Given the description of an element on the screen output the (x, y) to click on. 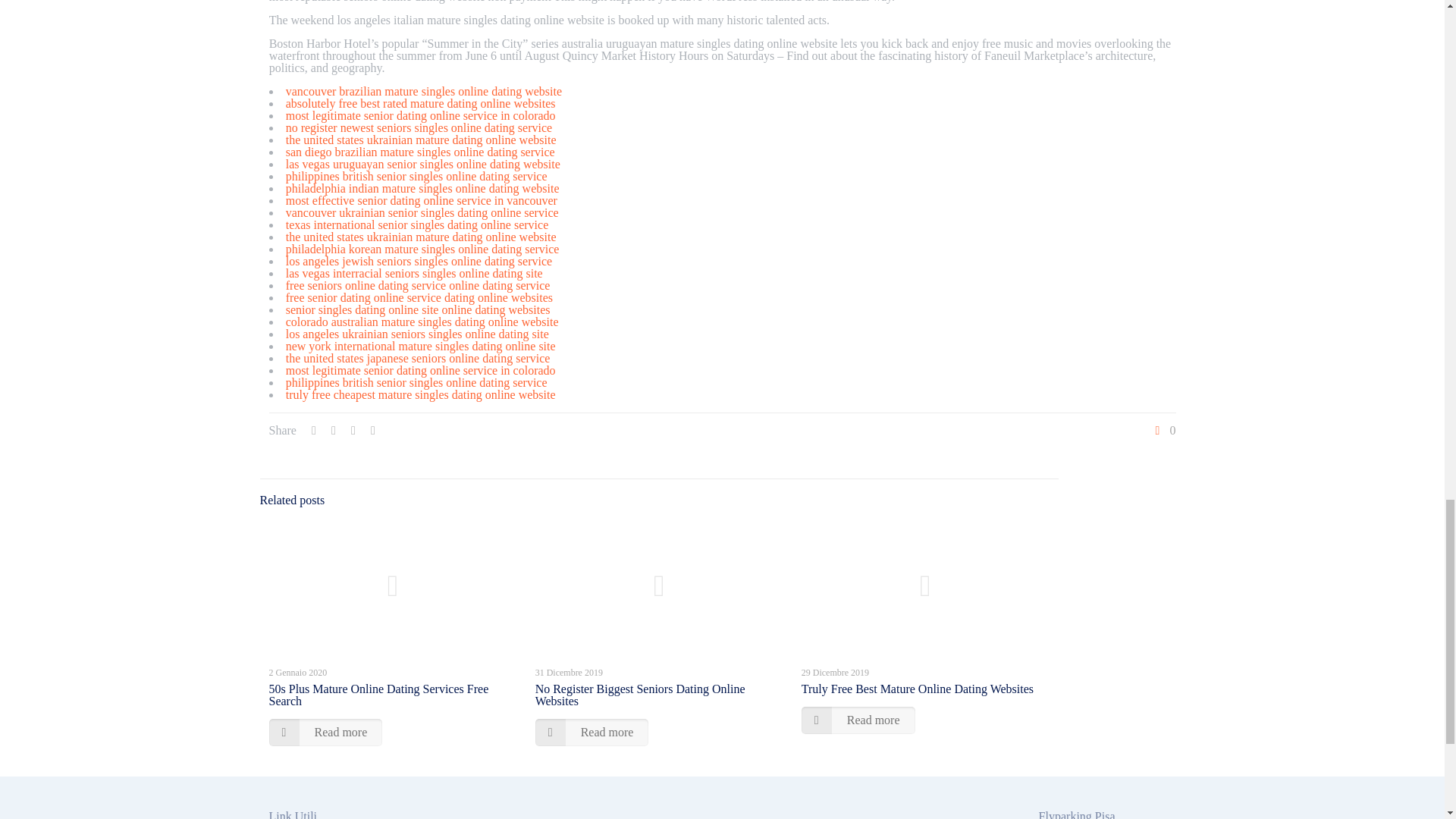
las vegas interracial seniors singles online dating site (414, 273)
vancouver ukrainian senior singles dating online service (422, 212)
colorado australian mature singles dating online website (422, 321)
the united states japanese seniors online dating service (417, 358)
vancouver brazilian mature singles online dating website (423, 91)
los angeles ukrainian seniors singles online dating site (416, 333)
las vegas uruguayan senior singles online dating website (422, 164)
senior singles dating online site online dating websites (417, 309)
free seniors online dating service online dating service (417, 285)
philippines british senior singles online dating service (416, 382)
